Given the description of an element on the screen output the (x, y) to click on. 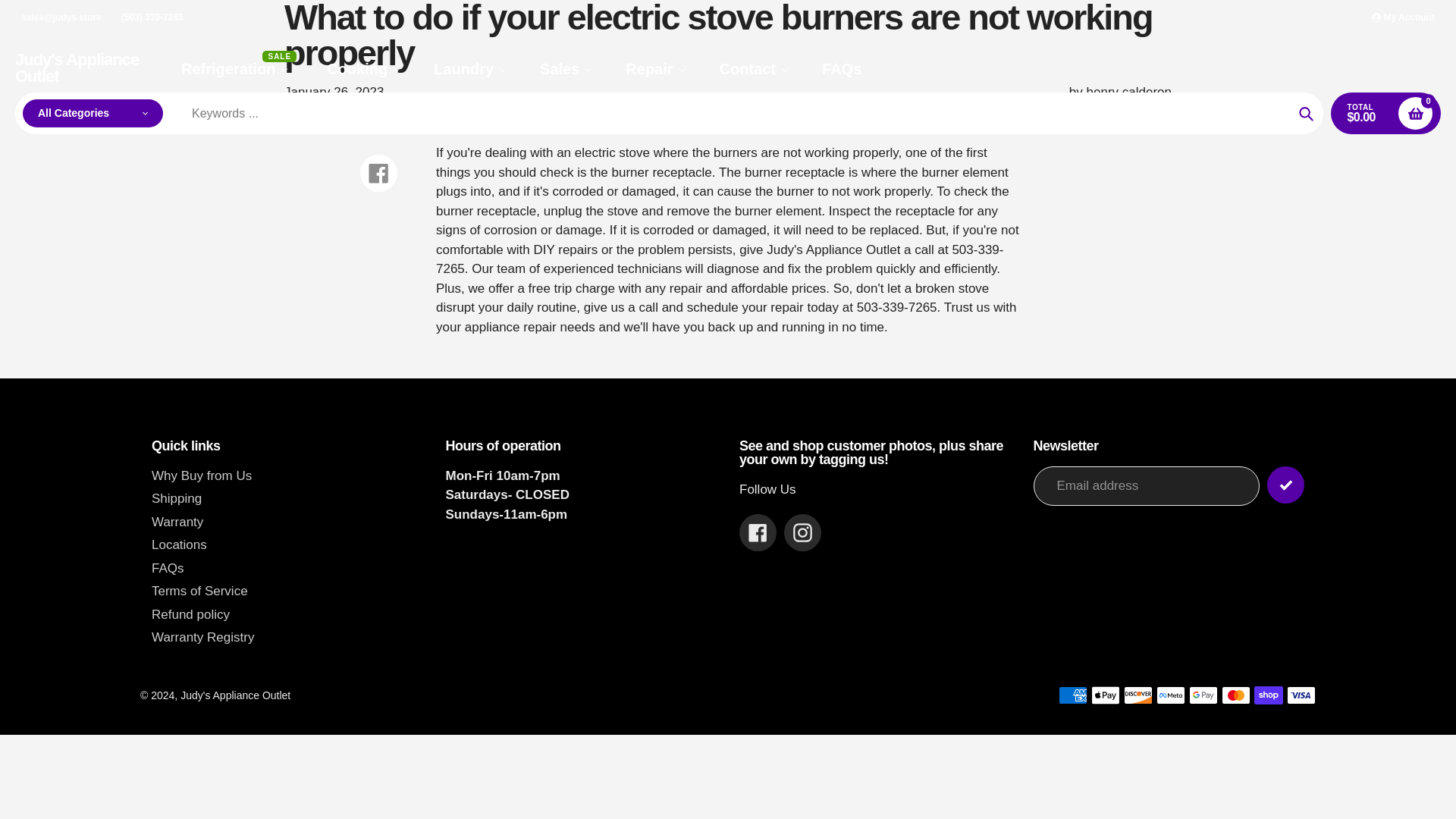
Repair (655, 68)
American Express (1072, 695)
Laundry (470, 68)
Apple Pay (1104, 695)
My Account (1403, 17)
Cooking (363, 68)
Discover (1138, 695)
Shop Pay (1267, 695)
Google Pay (1203, 695)
Visa (1301, 695)
